Given the description of an element on the screen output the (x, y) to click on. 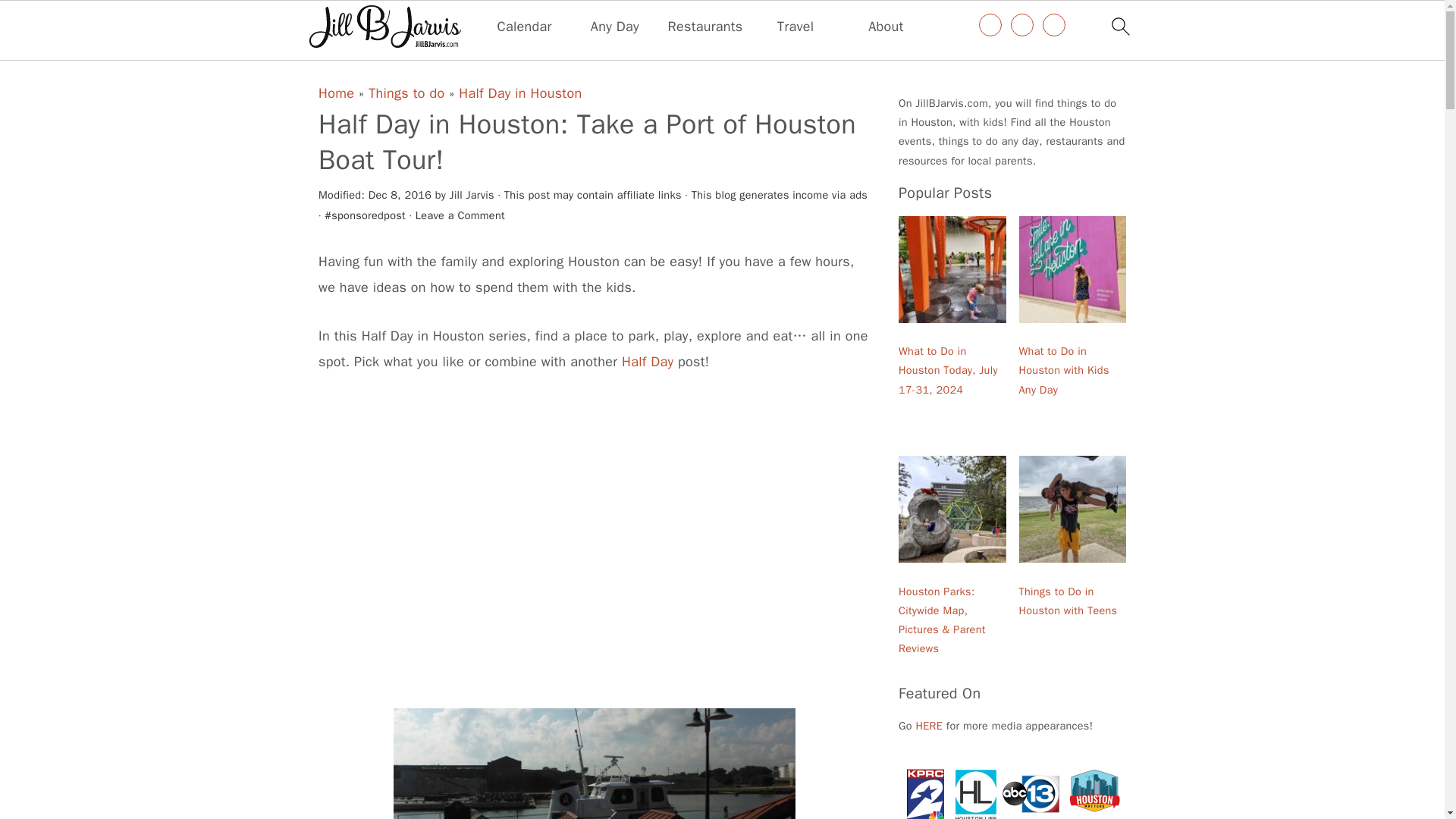
Travel (795, 27)
Any Day (615, 27)
Calendar (524, 27)
About (884, 27)
search icon (1119, 26)
Restaurants (705, 27)
